Given the description of an element on the screen output the (x, y) to click on. 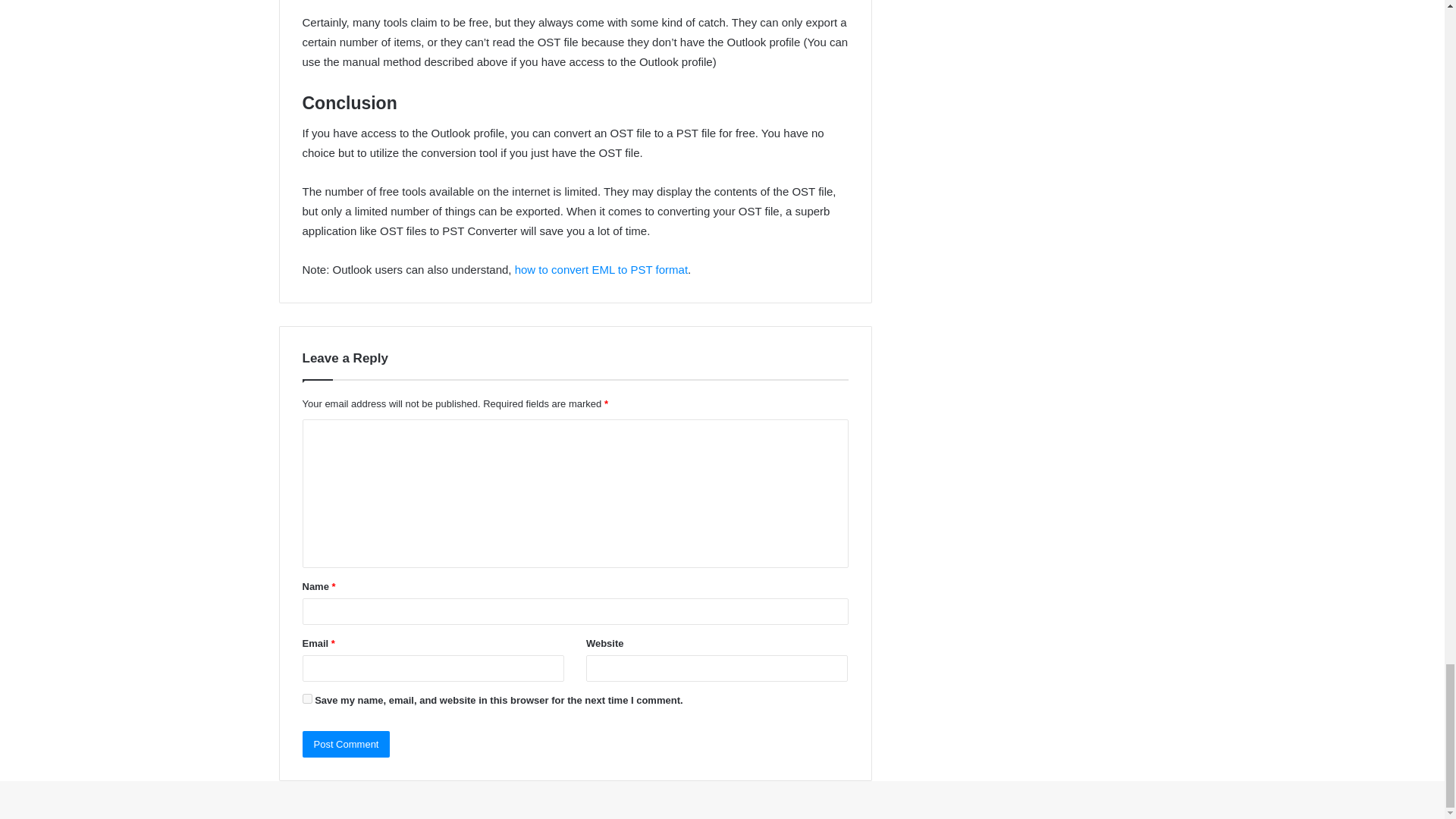
yes (306, 698)
Post Comment (345, 744)
how to convert EML to PST format (601, 269)
Post Comment (345, 744)
